Given the description of an element on the screen output the (x, y) to click on. 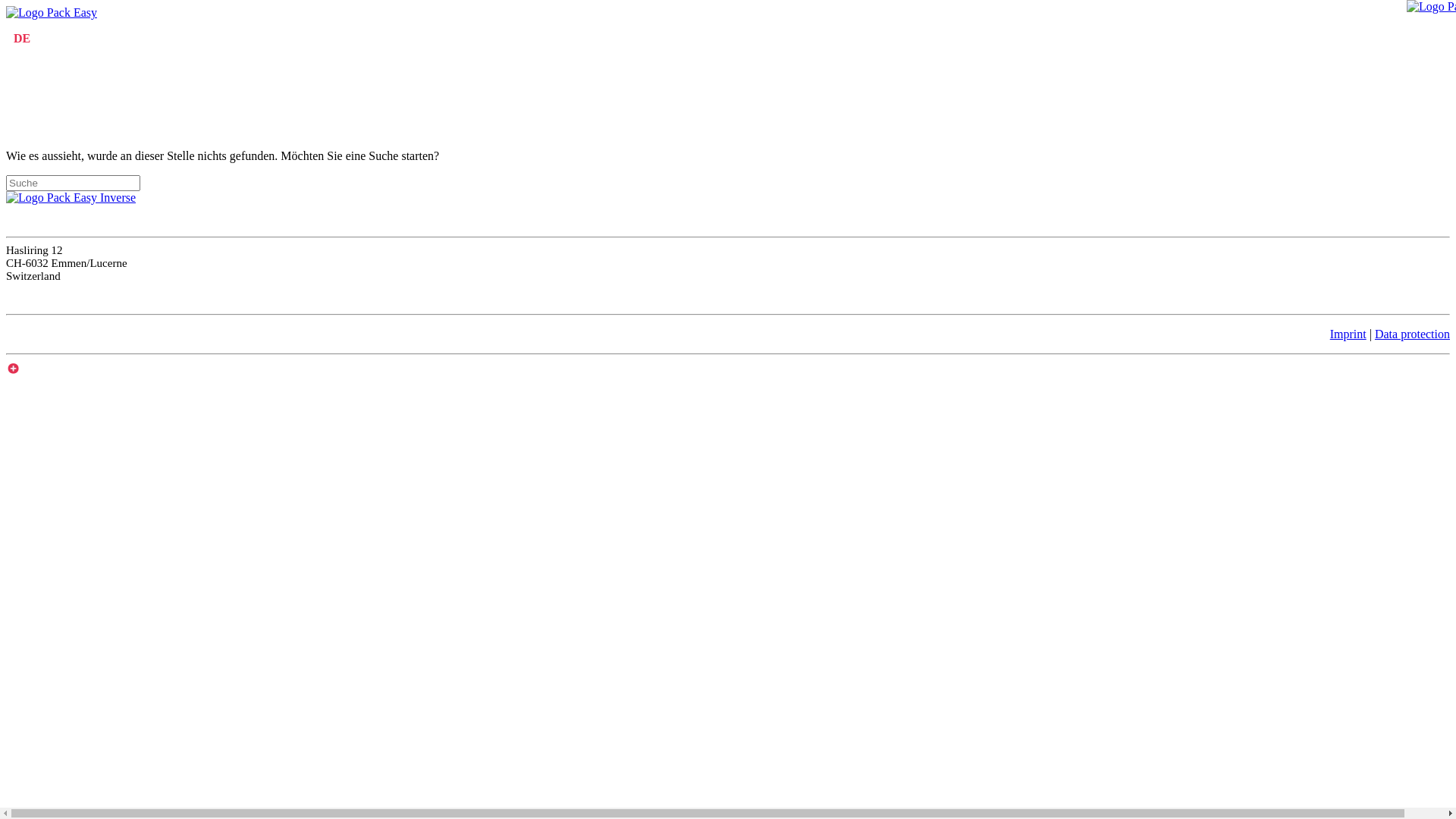
Imprint Element type: text (1348, 333)
EN Element type: text (45, 37)
Data protection Element type: text (1411, 333)
DE Element type: text (21, 37)
